Given the description of an element on the screen output the (x, y) to click on. 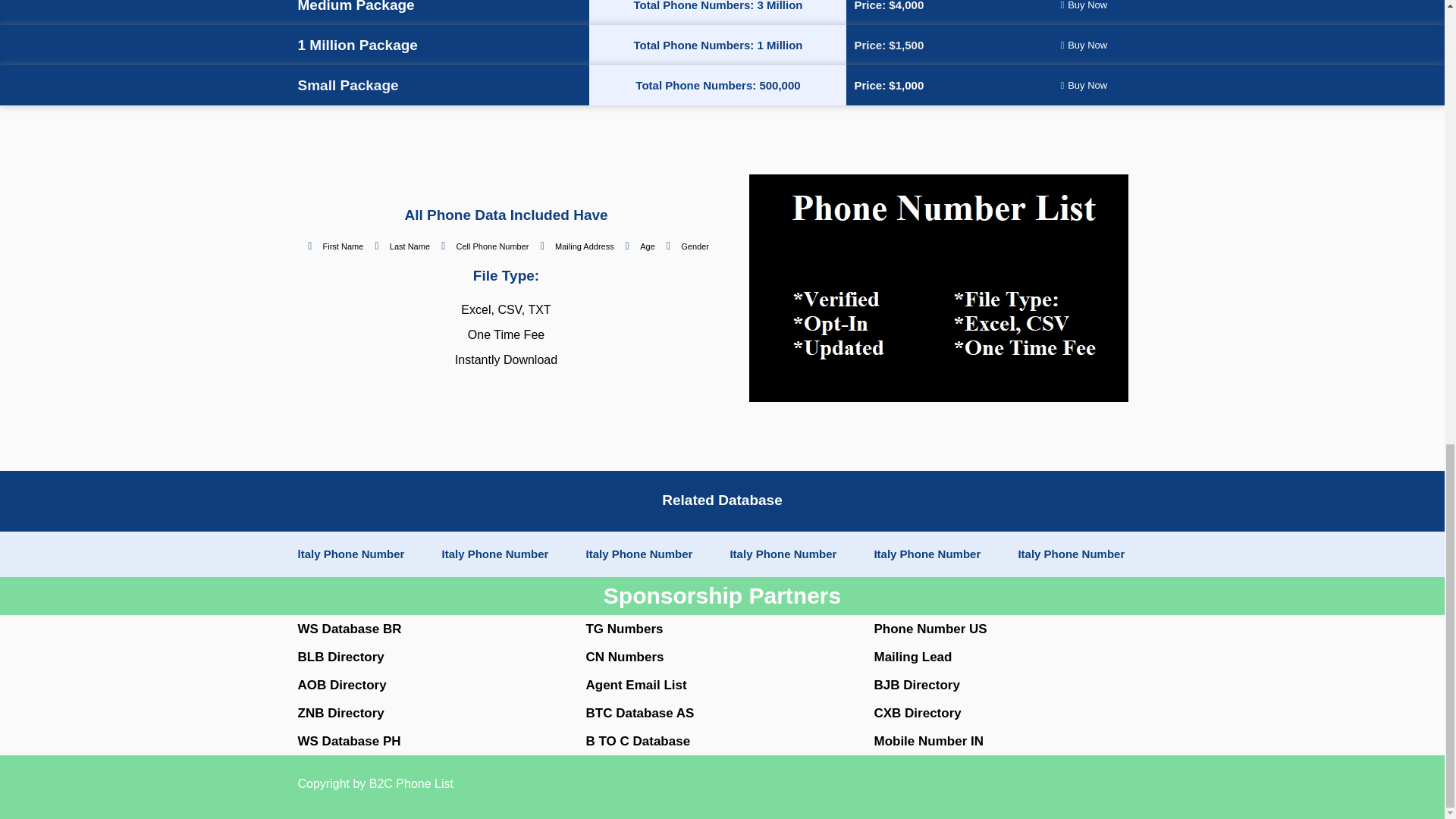
Phone Number US (930, 628)
WS Database PH (348, 740)
ZNB Directory (340, 712)
Italy Phone Number (926, 553)
Italy Phone Number (639, 553)
Agent Email List (635, 685)
BLB Directory (340, 657)
BTC Database AS (639, 712)
CN Numbers (624, 657)
B TO C Database (637, 740)
Buy Now (1083, 44)
Italy Phone Number (494, 553)
WS Database BR (349, 628)
Buy Now (1083, 84)
Italy Phone Number (782, 553)
